Given the description of an element on the screen output the (x, y) to click on. 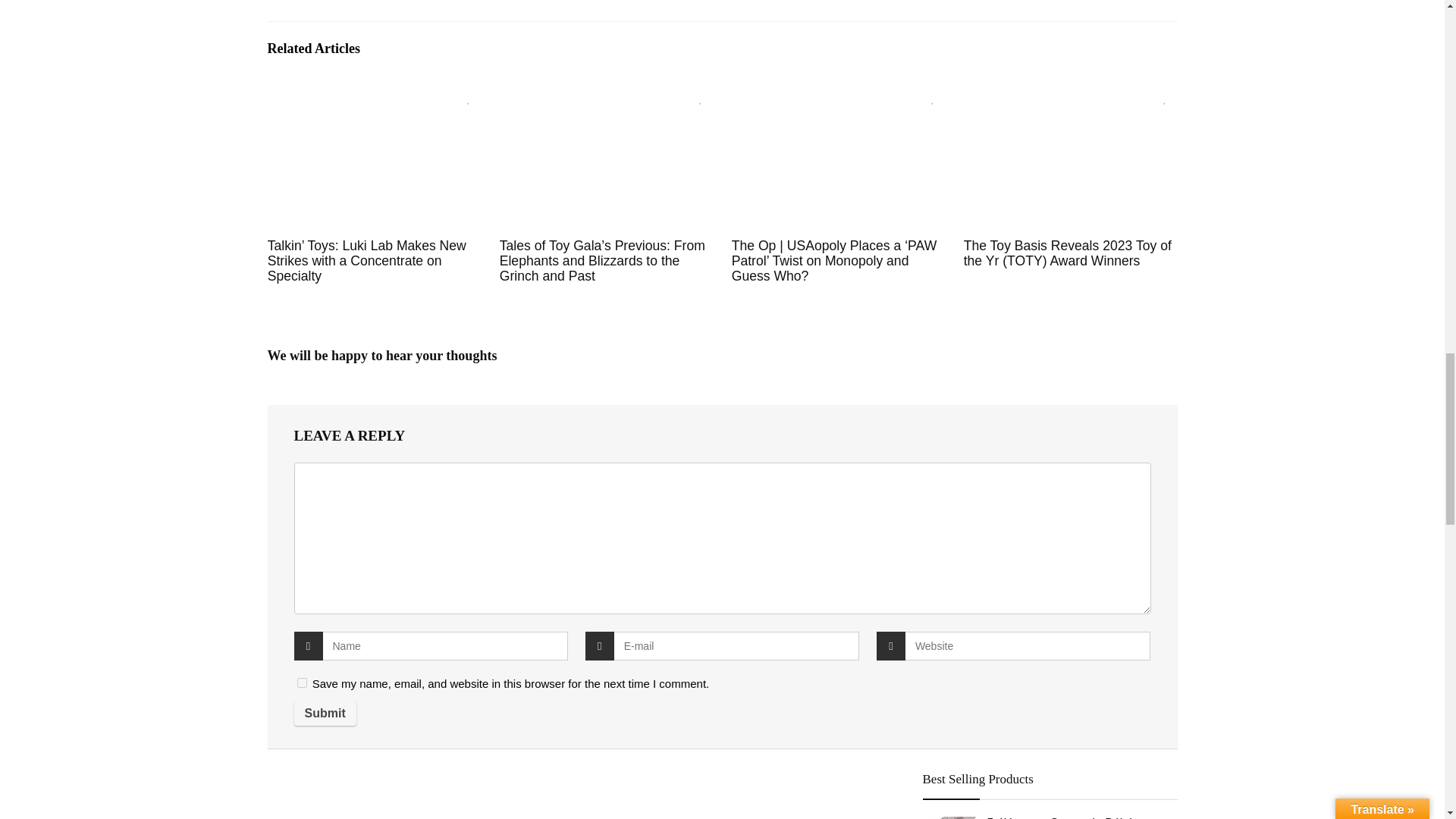
Submit (325, 713)
yes (302, 682)
